Given the description of an element on the screen output the (x, y) to click on. 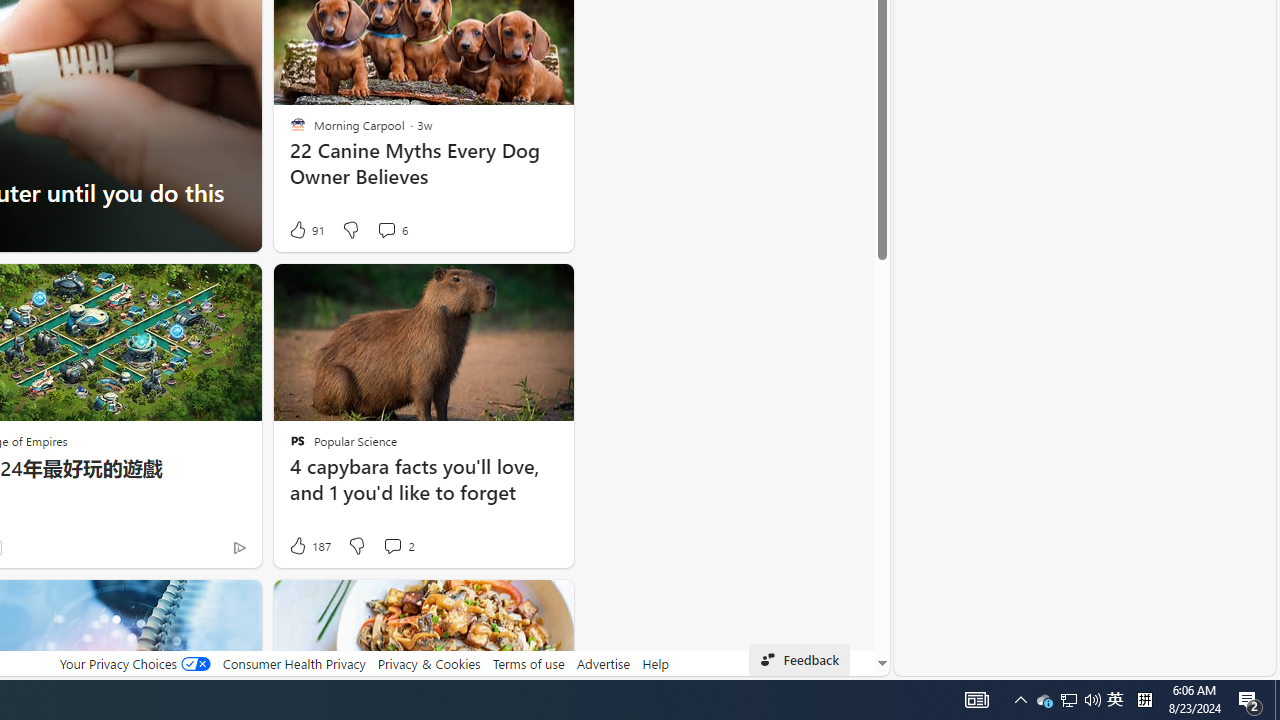
91 Like (305, 230)
187 Like (309, 546)
Hide this story (512, 603)
View comments 6 Comment (392, 230)
